Given the description of an element on the screen output the (x, y) to click on. 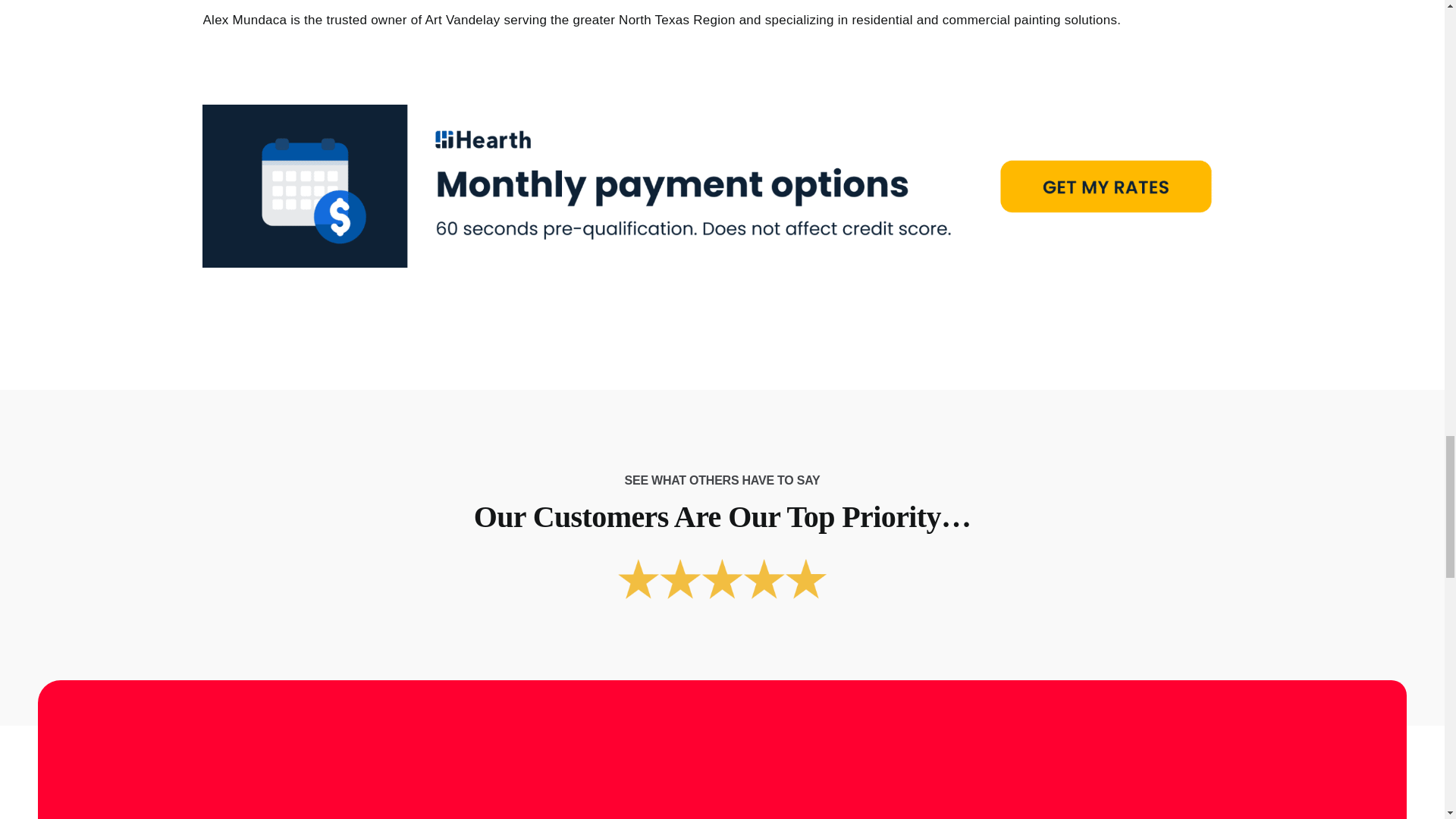
Review stars (722, 578)
